Given the description of an element on the screen output the (x, y) to click on. 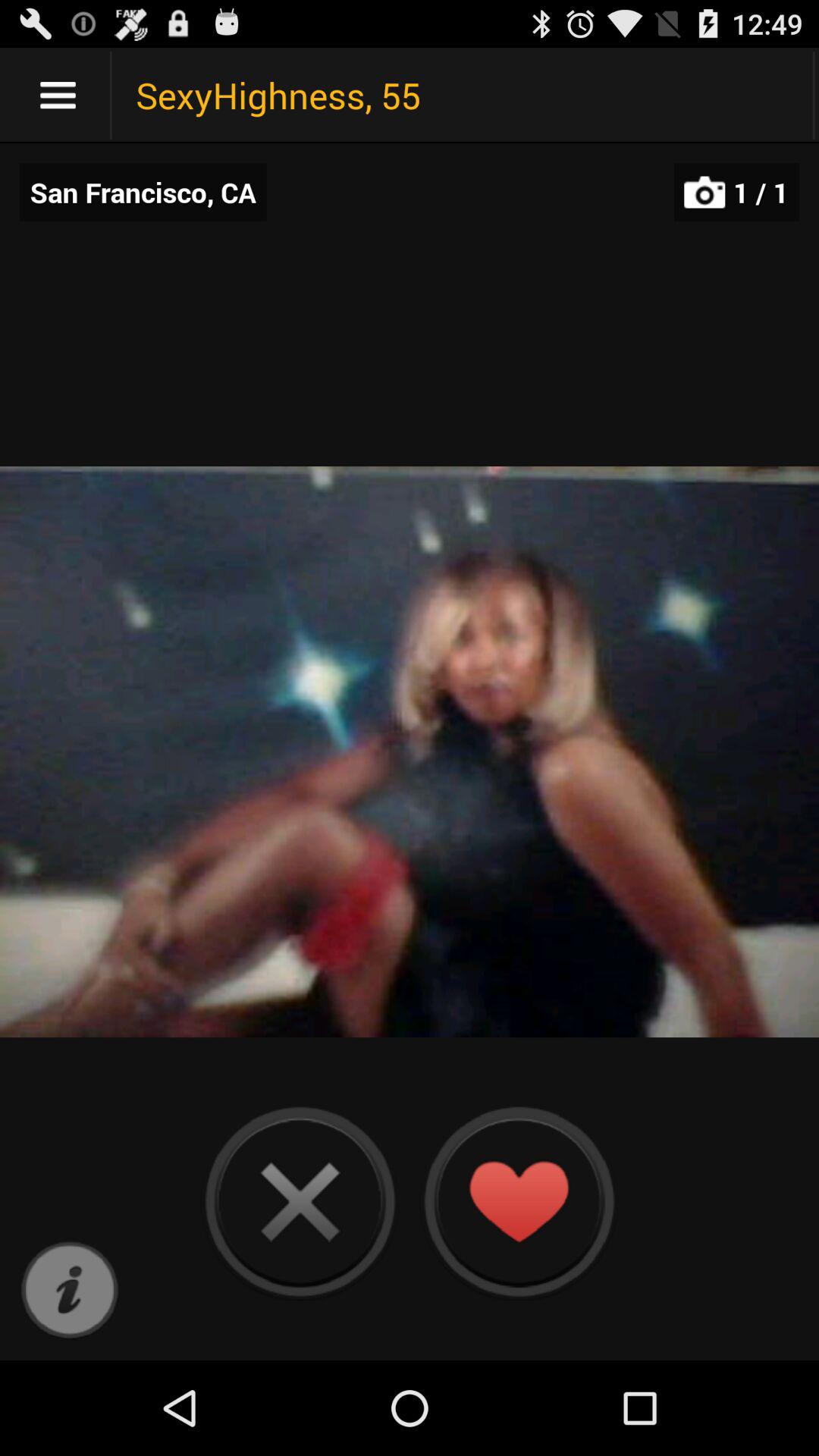
more information (69, 1290)
